Given the description of an element on the screen output the (x, y) to click on. 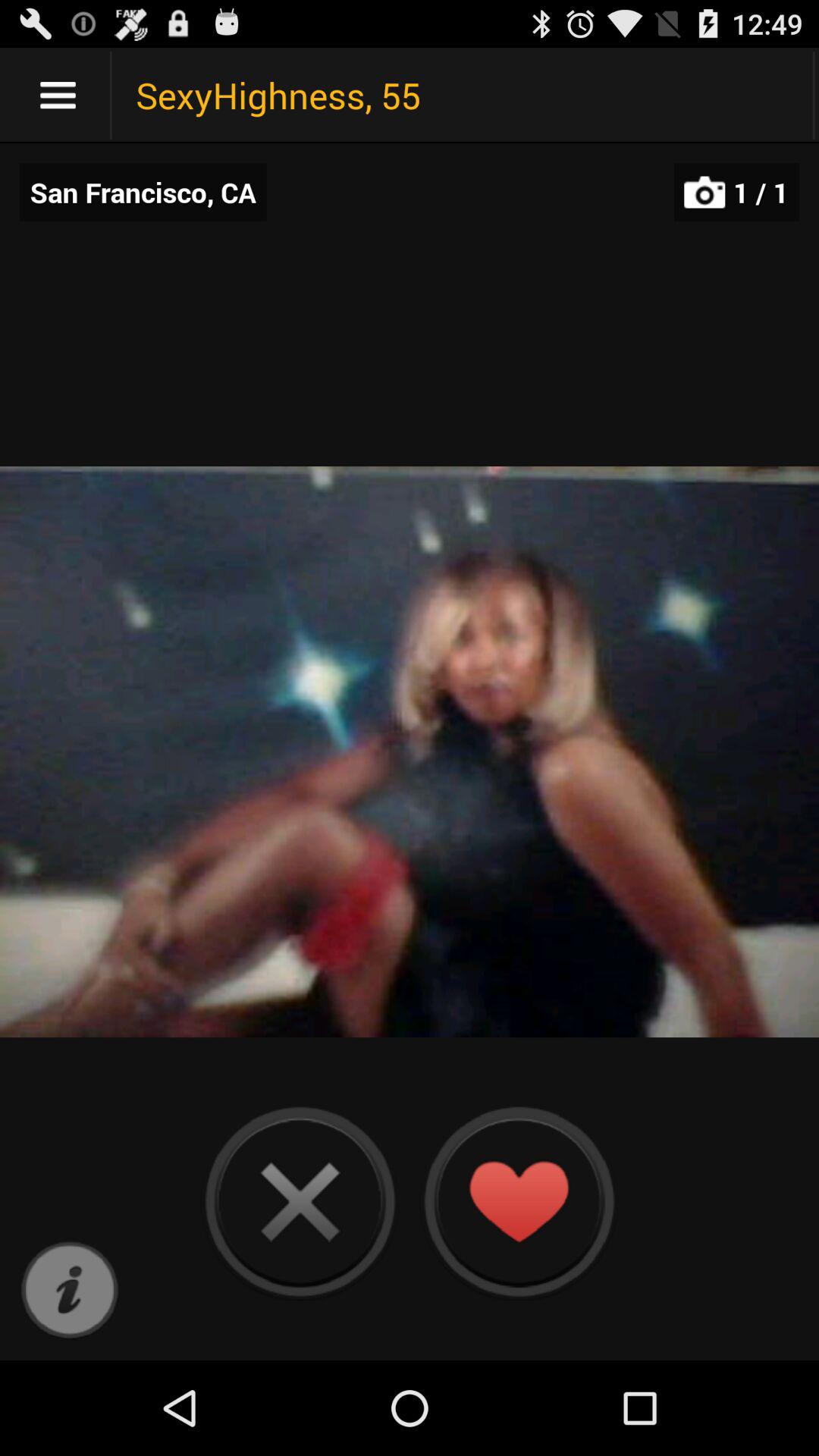
more information (69, 1290)
